Given the description of an element on the screen output the (x, y) to click on. 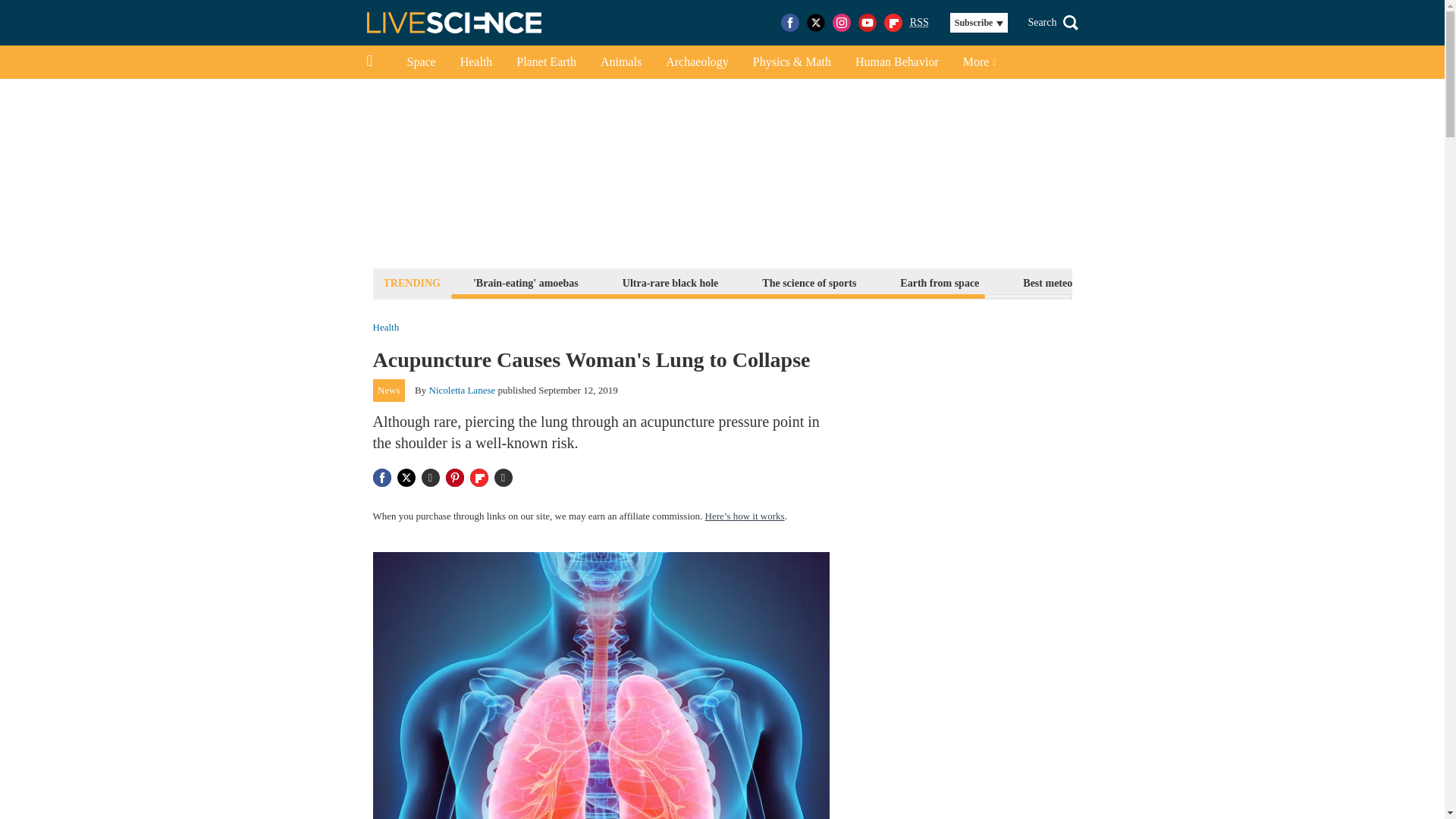
News (389, 390)
Really Simple Syndication (919, 21)
Ultra-rare black hole (670, 282)
Animals (620, 61)
Nicoletta Lanese (462, 389)
The science of sports (809, 282)
Planet Earth (545, 61)
Earth from space (939, 282)
'Brain-eating' amoebas (525, 282)
RSS (919, 22)
Human Behavior (896, 61)
Space (420, 61)
Health (476, 61)
Best meteor showers of 2024 (1086, 282)
Archaeology (697, 61)
